Given the description of an element on the screen output the (x, y) to click on. 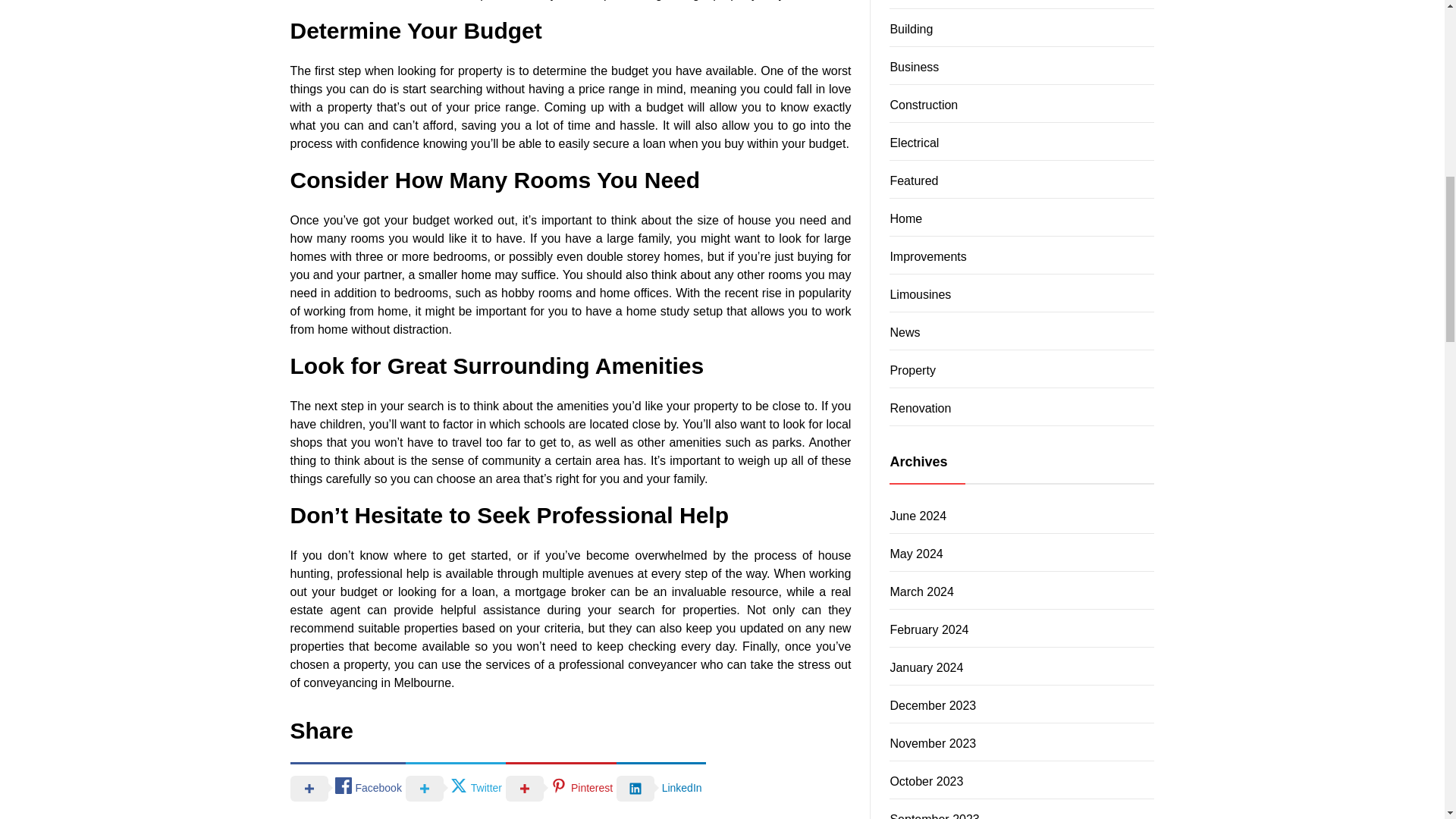
Twitter (455, 787)
LinkedIn (659, 787)
Pinterest (560, 787)
Facebook (346, 787)
